Given the description of an element on the screen output the (x, y) to click on. 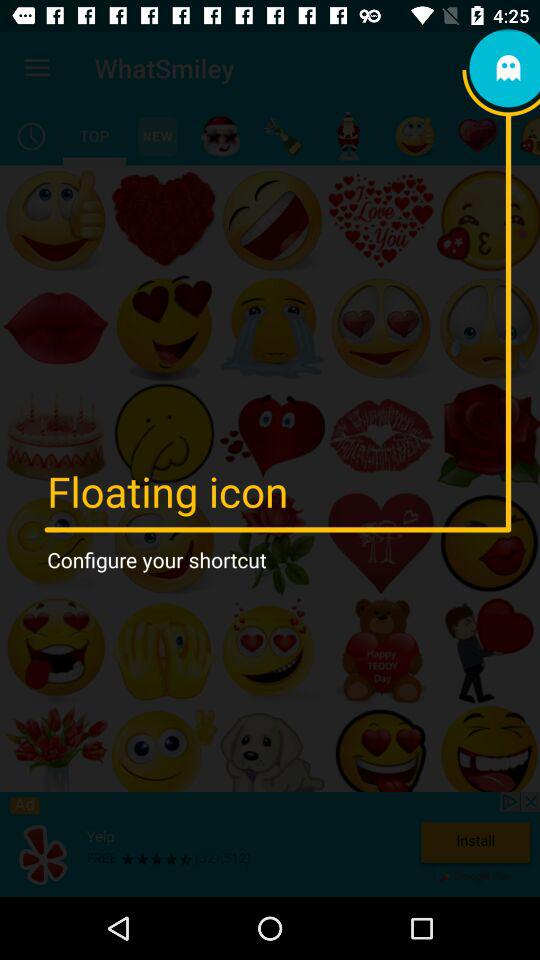
select face emojis (414, 136)
